Given the description of an element on the screen output the (x, y) to click on. 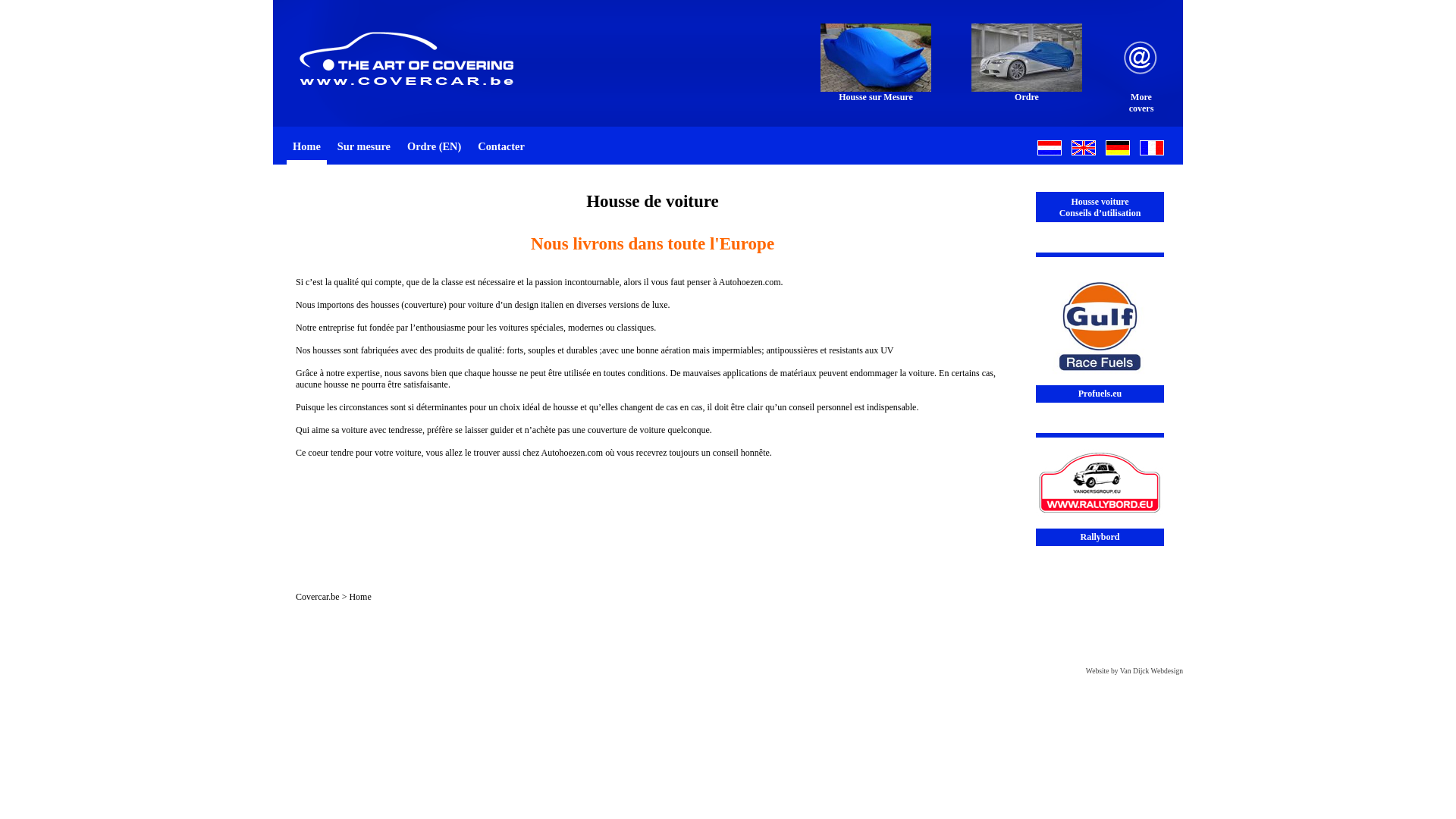
Housse sur Mesure Element type: text (875, 62)
Covercar.be Element type: text (317, 596)
Profuels.eu Element type: text (1099, 327)
Home Element type: text (359, 596)
Ordre Element type: text (1026, 62)
More covers Element type: text (1141, 68)
Home Element type: text (306, 145)
Ordre (EN) Element type: text (434, 145)
Housse de voiture Element type: text (652, 200)
Sur mesure Element type: text (363, 145)
Contacter Element type: text (500, 145)
Van Dijck Webdesign Element type: text (1151, 670)
Rallybord Element type: text (1099, 489)
